Given the description of an element on the screen output the (x, y) to click on. 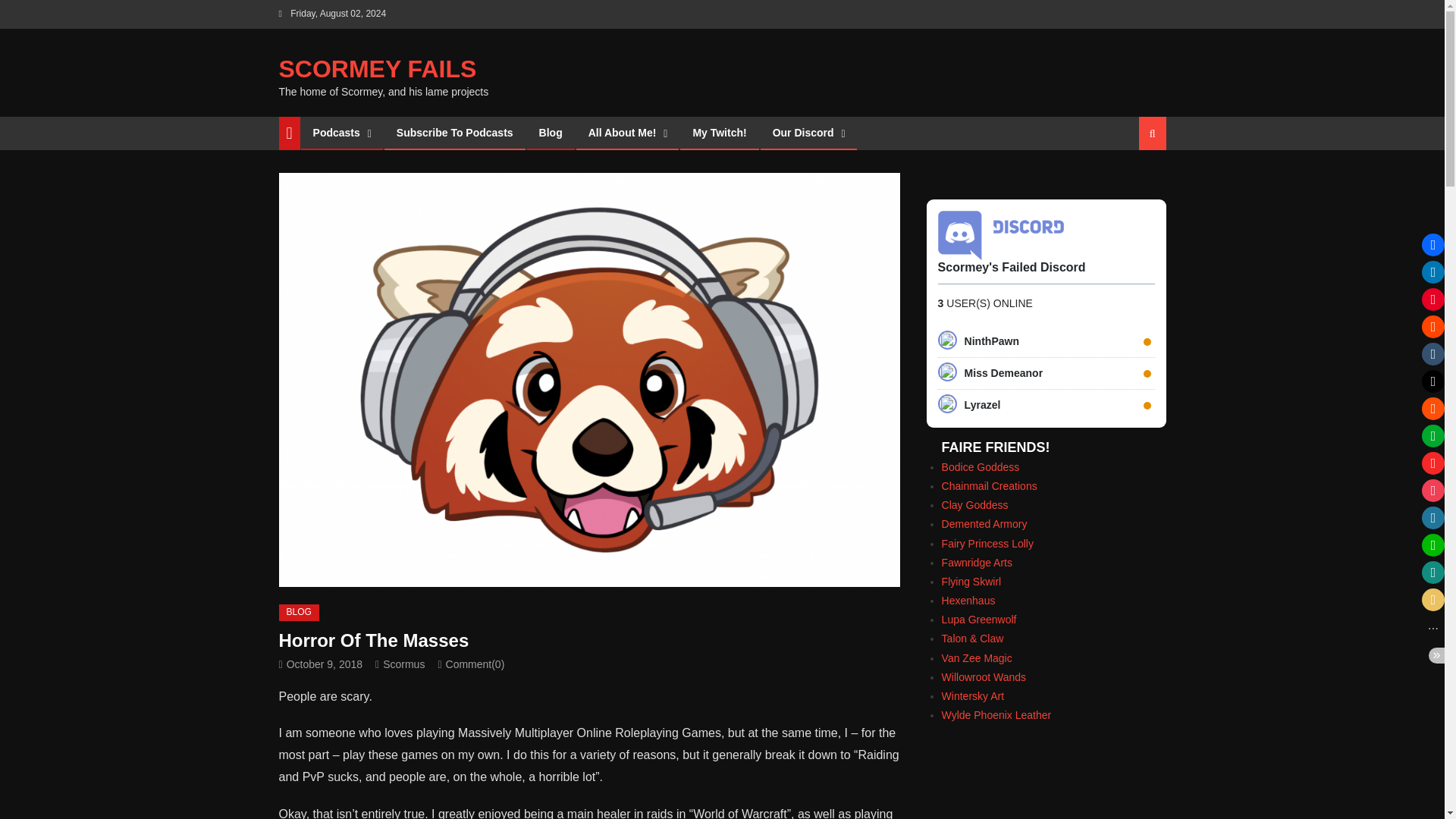
SCORMEY FAILS (378, 68)
All About Me! (622, 132)
BLOG (298, 612)
Scormus (403, 664)
October 9, 2018 (324, 664)
Podcasts (336, 132)
Search (1133, 185)
My Twitch! (719, 132)
Subscribe To Podcasts (454, 132)
Our Discord (803, 132)
Blog (550, 132)
